Given the description of an element on the screen output the (x, y) to click on. 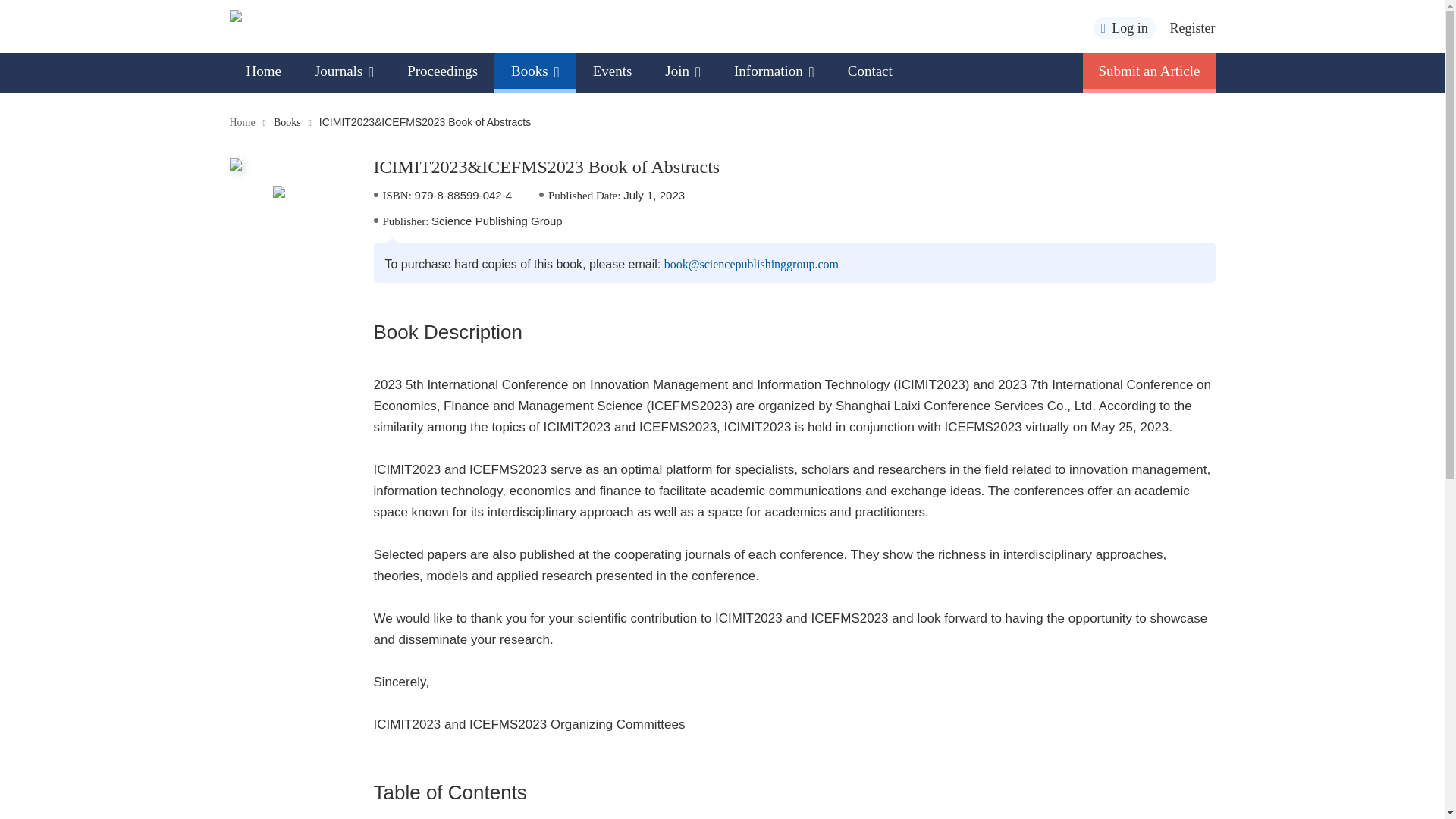
Books (535, 71)
Information (774, 71)
Journals (344, 71)
Log in (1124, 27)
Proceedings (442, 71)
Events (612, 71)
Register (1191, 28)
Join (682, 71)
Home (262, 71)
